Given the description of an element on the screen output the (x, y) to click on. 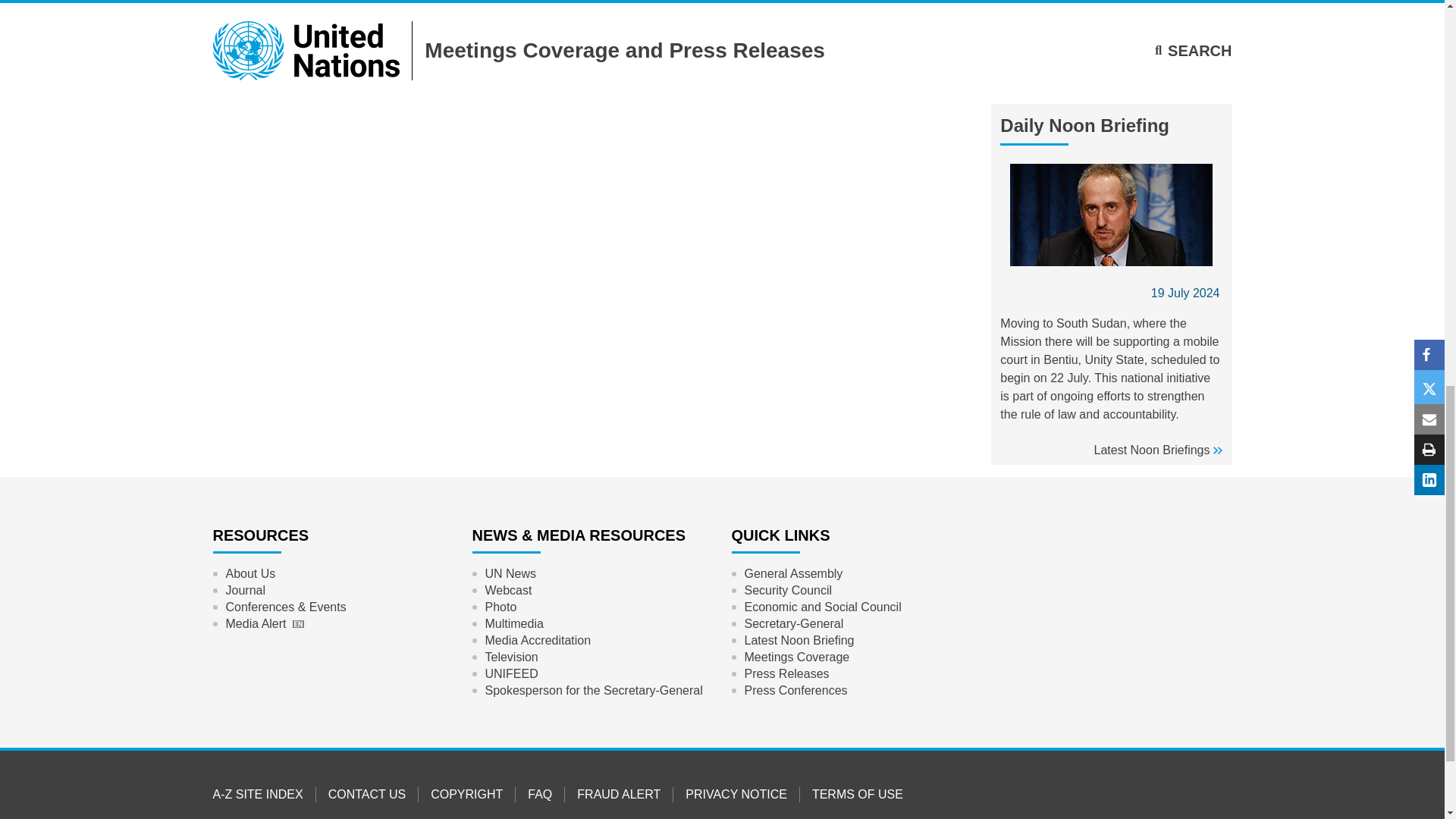
Photo (499, 606)
Webcast (507, 590)
Global perspective Human stories (510, 573)
General Assembly section link (792, 573)
Security Council section link (787, 590)
Journal (244, 590)
Multimedia (513, 623)
Spokesperson for the Secretary-General (593, 690)
Lebanon (248, 21)
UNIFEED (510, 673)
Media Alert (264, 623)
Link to English About Us Page (250, 573)
Media Accreditation (537, 640)
ECOSOC section link (821, 606)
Television (510, 657)
